Given the description of an element on the screen output the (x, y) to click on. 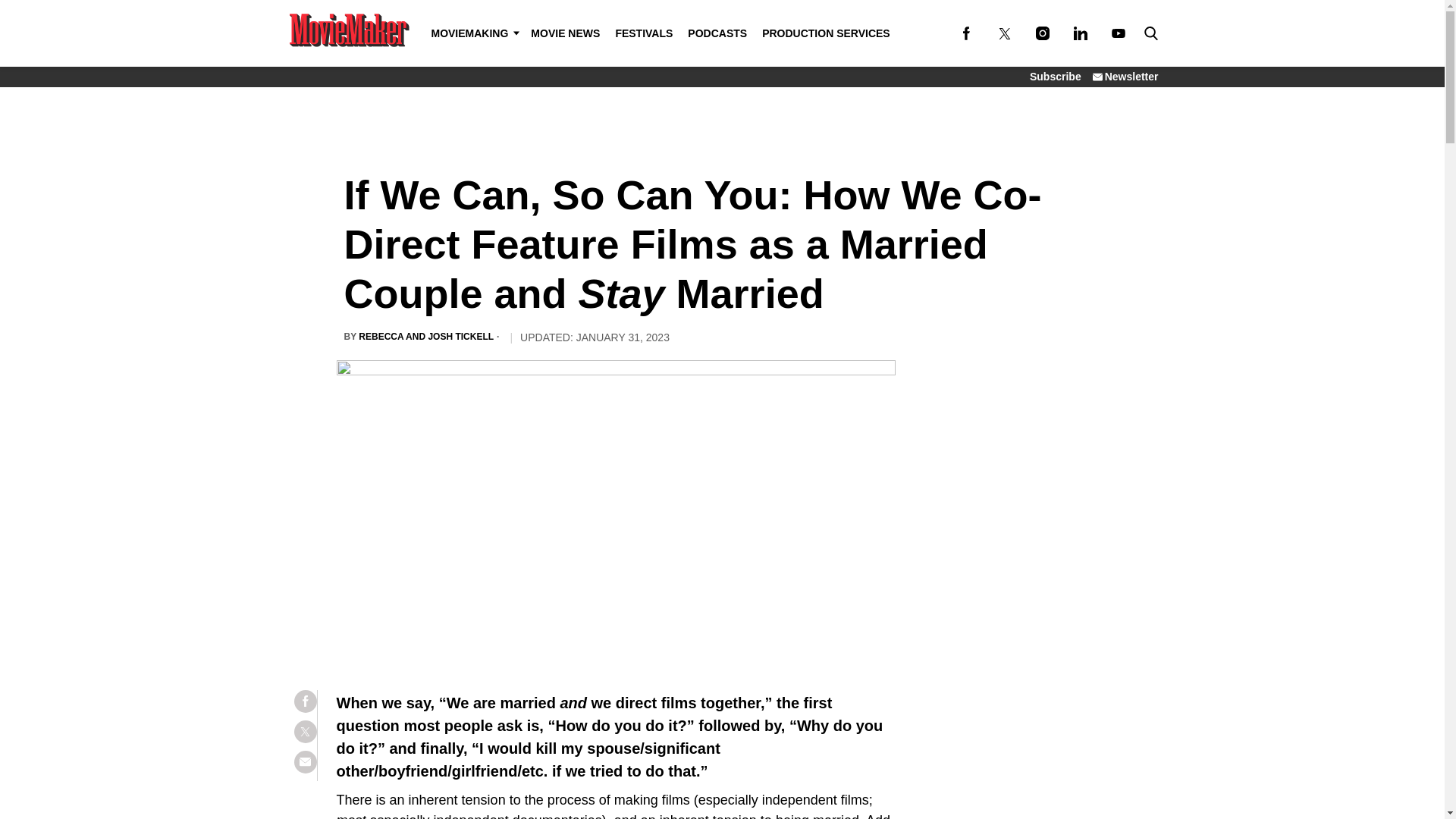
Subscribe (1055, 76)
PODCASTS (716, 33)
MOVIE NEWS (564, 33)
REBECCA AND JOSH TICKELL (425, 336)
Share on Facebook (305, 701)
FESTIVALS (643, 33)
Posts by Rebecca and Josh Tickell (425, 336)
Newsletter (1125, 76)
Share on Twitter (305, 731)
MOVIEMAKING (472, 33)
